Given the description of an element on the screen output the (x, y) to click on. 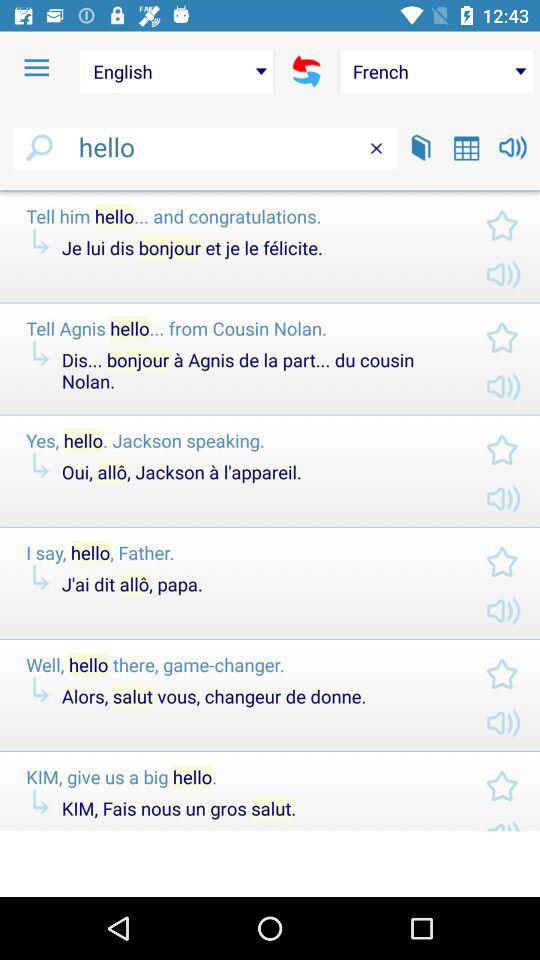
switch languages (306, 71)
